Given the description of an element on the screen output the (x, y) to click on. 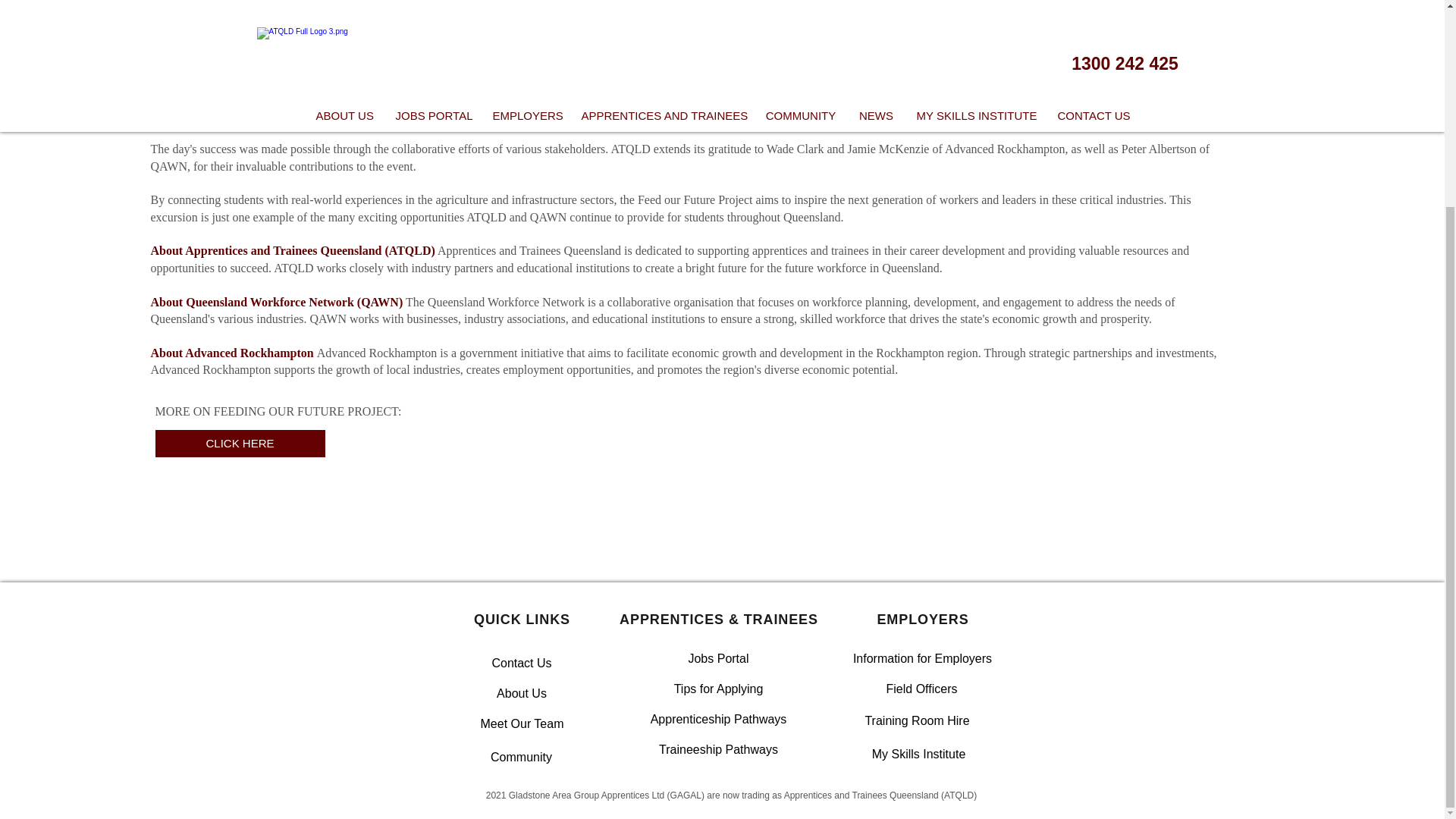
CLICK HERE (239, 443)
Tips for Applying (717, 689)
Traineeship Pathways (718, 749)
Information for Employers (923, 658)
Community (521, 757)
About Us (520, 693)
My Skills Institute (917, 754)
Training Room Hire (917, 720)
Contact Us (520, 663)
Jobs Portal (717, 658)
Apprenticeship Pathways (718, 719)
Meet Our Team (522, 724)
Field Officers (921, 689)
